Given the description of an element on the screen output the (x, y) to click on. 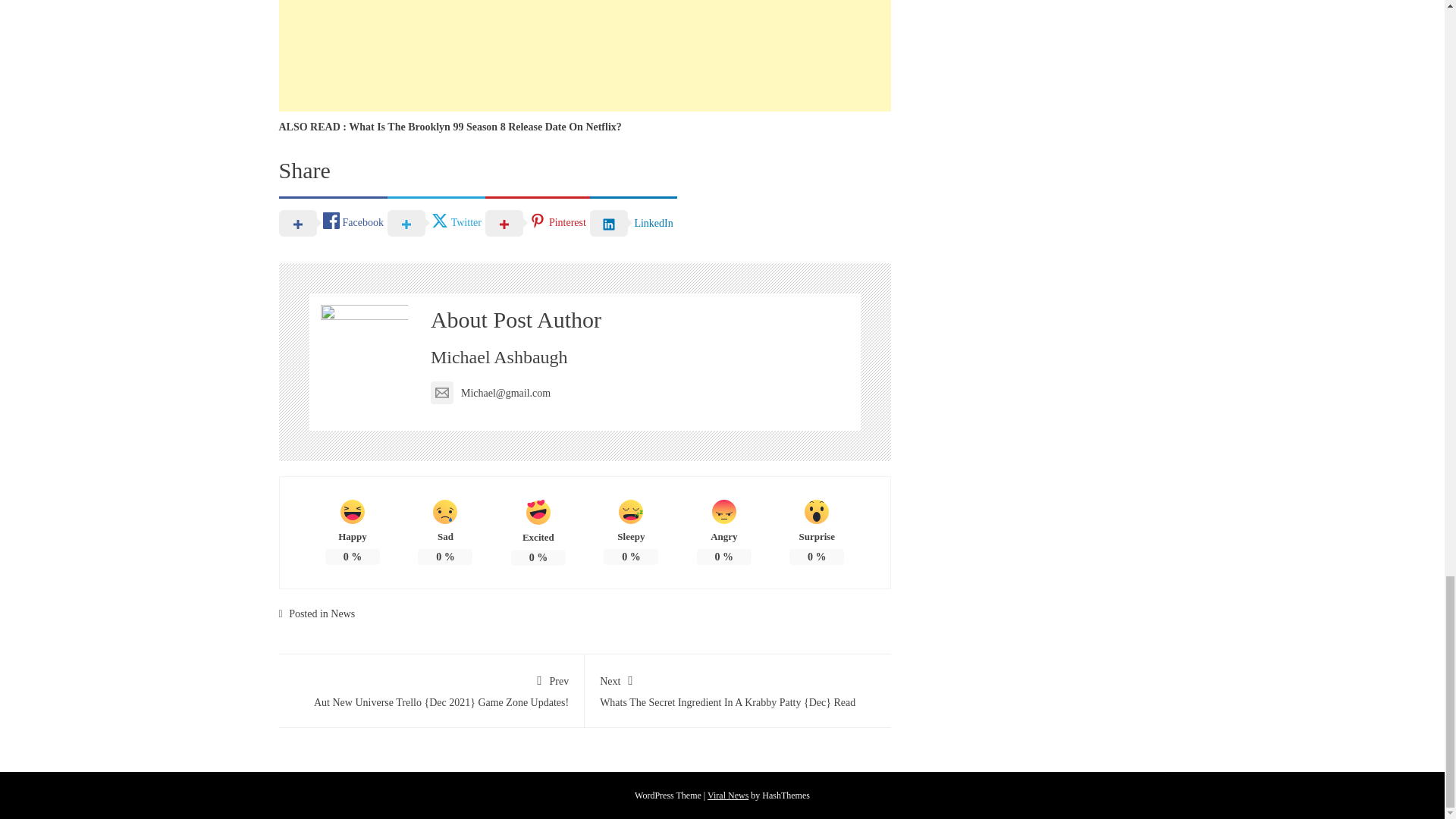
Pinterest (536, 222)
Twitter (435, 222)
LinkedIn (633, 222)
Facebook (333, 222)
News (342, 613)
Michael Ashbaugh (498, 356)
What Is The Brooklyn 99 Season 8 Release Date On Netflix? (485, 126)
